Given the description of an element on the screen output the (x, y) to click on. 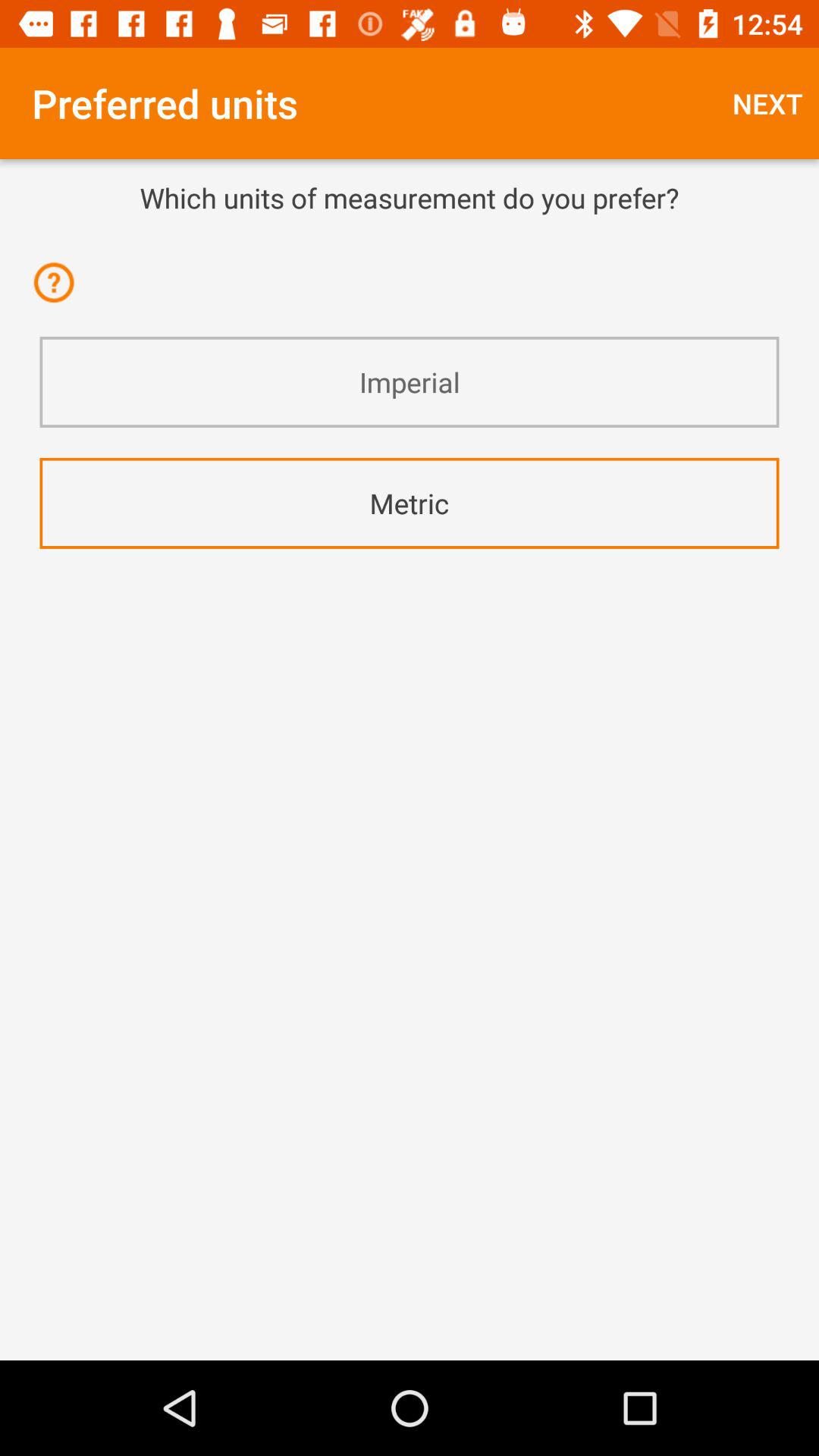
select icon above which units of icon (767, 103)
